Given the description of an element on the screen output the (x, y) to click on. 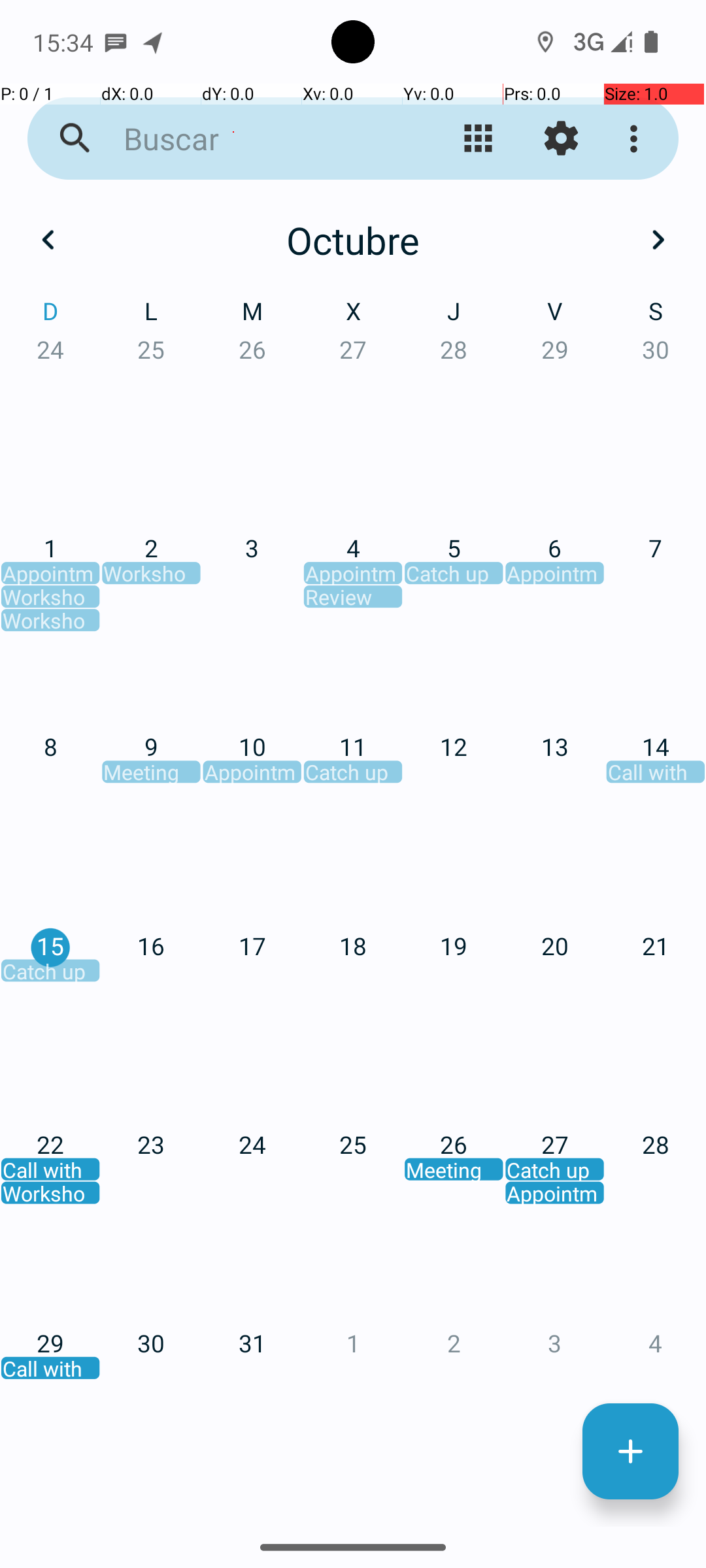
Buscar Element type: android.widget.EditText (252, 138)
Cambiar vista Element type: android.widget.Button (477, 138)
Ajustes Element type: android.widget.Button (560, 138)
Más opciones Element type: android.widget.ImageView (636, 138)
Nuevo evento Element type: android.widget.ImageButton (630, 1451)
Octubre Element type: android.widget.TextView (352, 239)
